Given the description of an element on the screen output the (x, y) to click on. 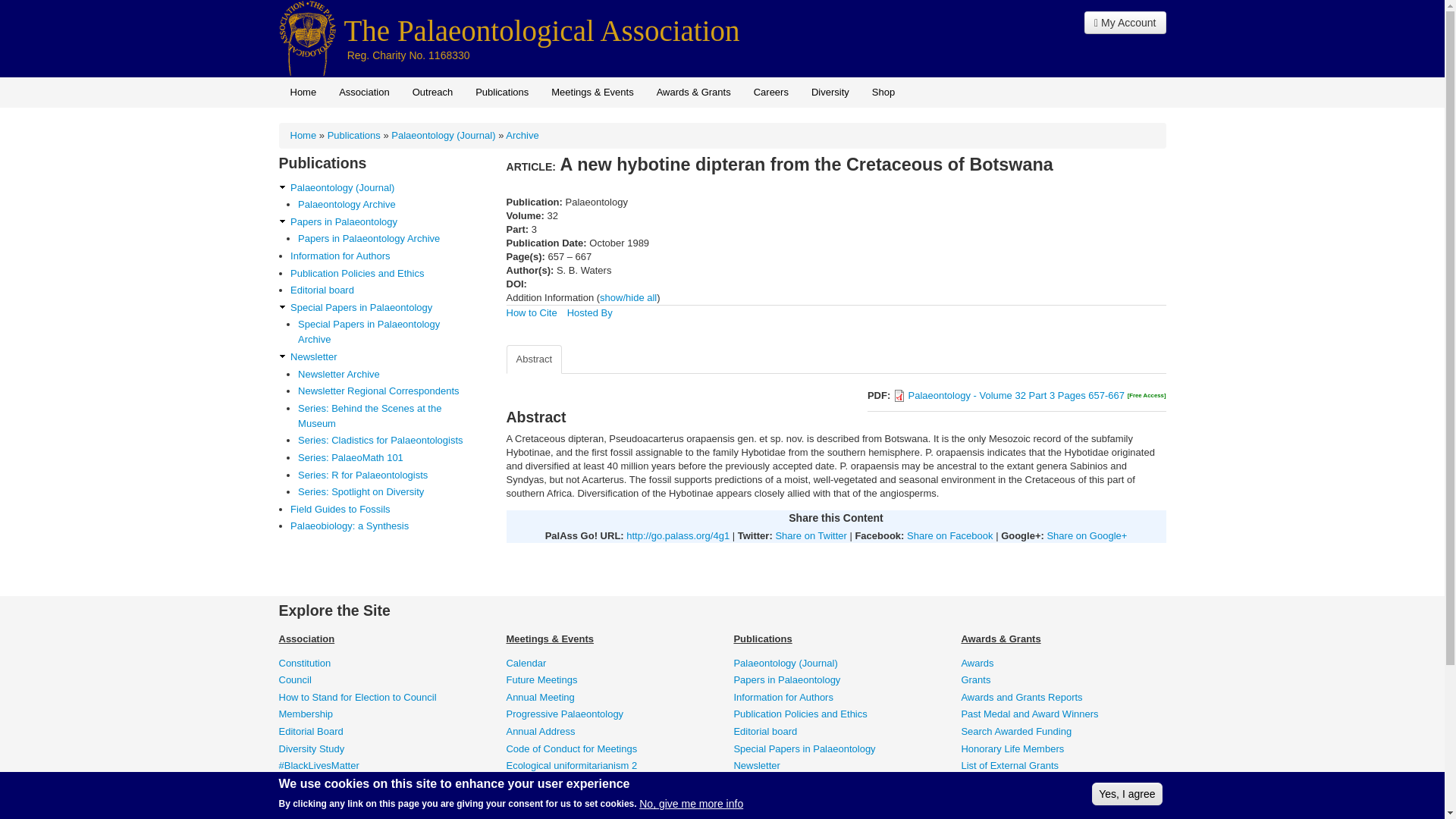
Information for Authors (384, 255)
Series: Spotlight on Diversity (385, 491)
Publications (353, 134)
Papers in Palaeontology (384, 222)
Series: PalaeoMath 101 (385, 458)
Careers (770, 91)
My Account (1125, 22)
